Given the description of an element on the screen output the (x, y) to click on. 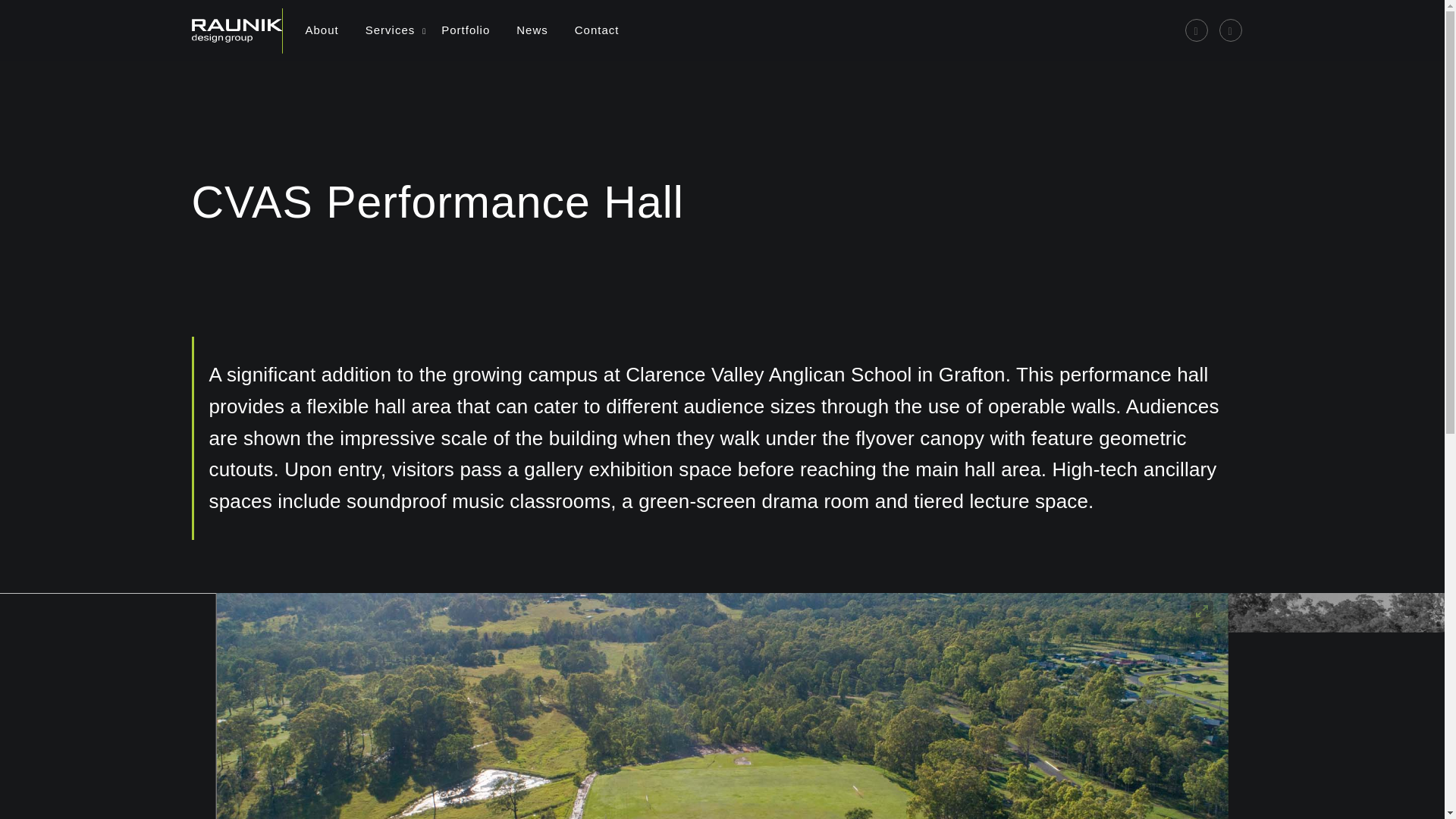
View full-screen (1201, 611)
Services (389, 29)
